Given the description of an element on the screen output the (x, y) to click on. 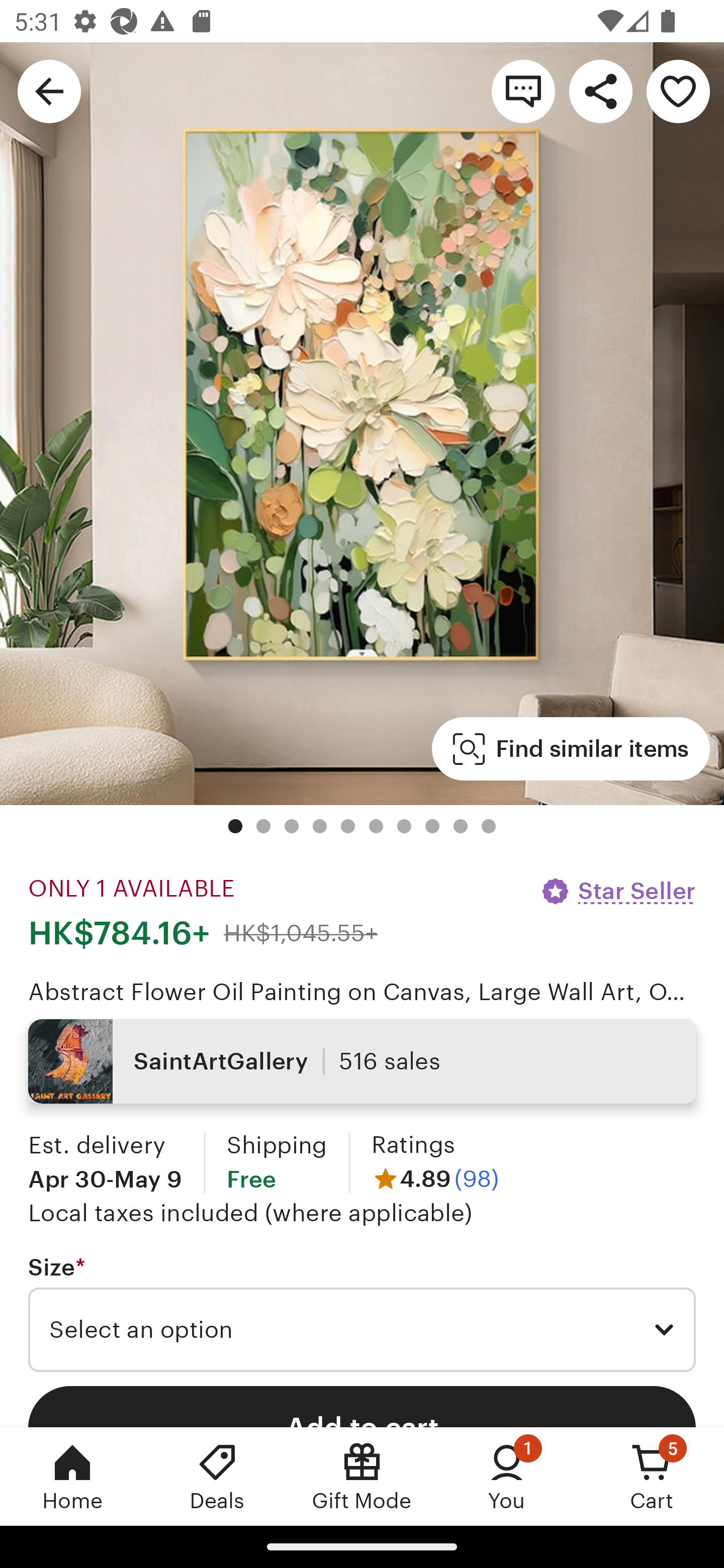
Navigate up (49, 90)
Contact shop (523, 90)
Share (600, 90)
Find similar items (571, 748)
Star Seller (617, 890)
SaintArtGallery 516 sales (361, 1061)
Ratings (413, 1144)
4.89 (98) (434, 1179)
Size * Required Select an option (361, 1313)
Select an option (361, 1329)
Deals (216, 1475)
Gift Mode (361, 1475)
You, 1 new notification You (506, 1475)
Cart, 5 new notifications Cart (651, 1475)
